Given the description of an element on the screen output the (x, y) to click on. 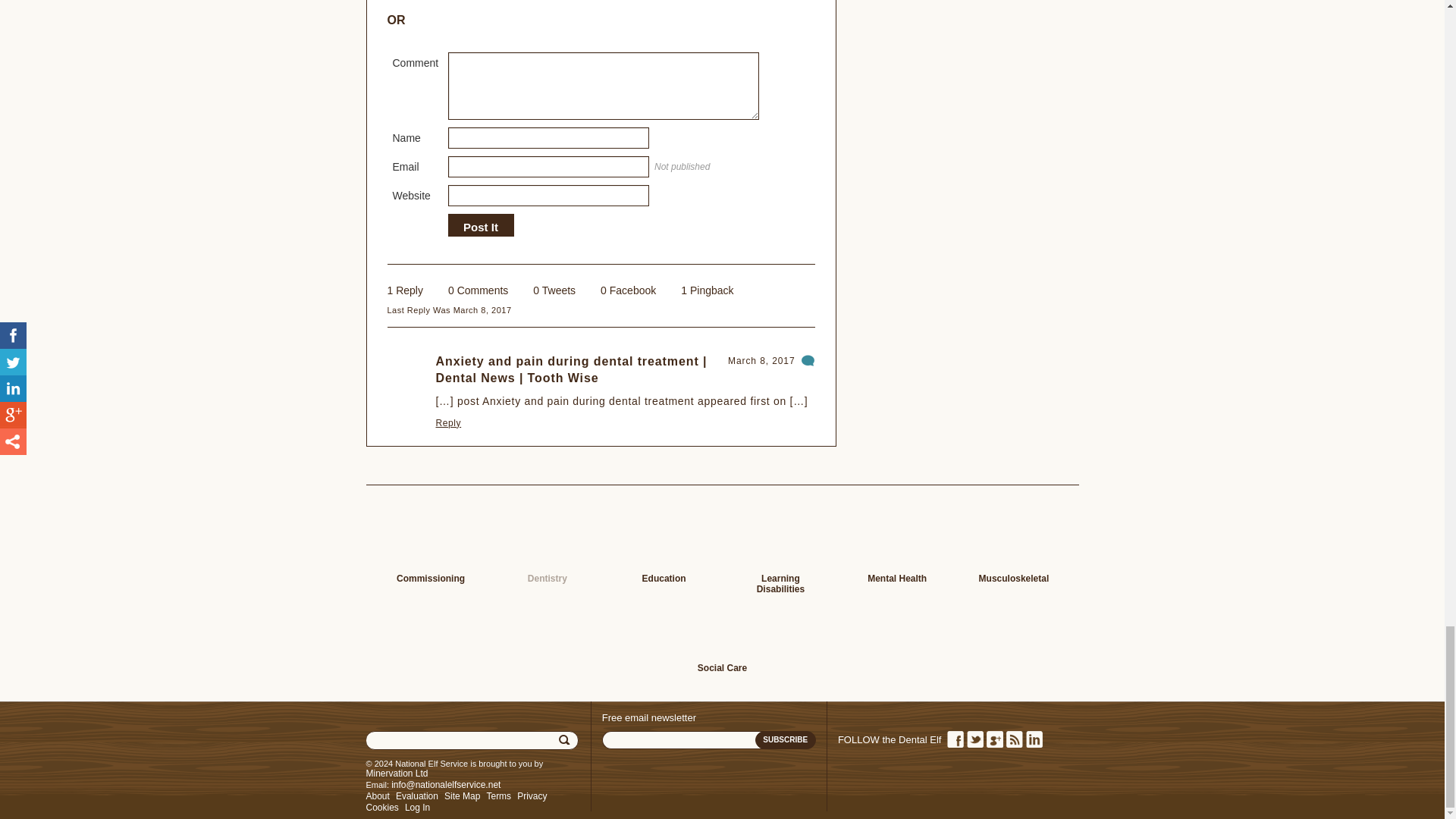
Post It (479, 226)
Subscribe (785, 740)
Search (565, 740)
